Given the description of an element on the screen output the (x, y) to click on. 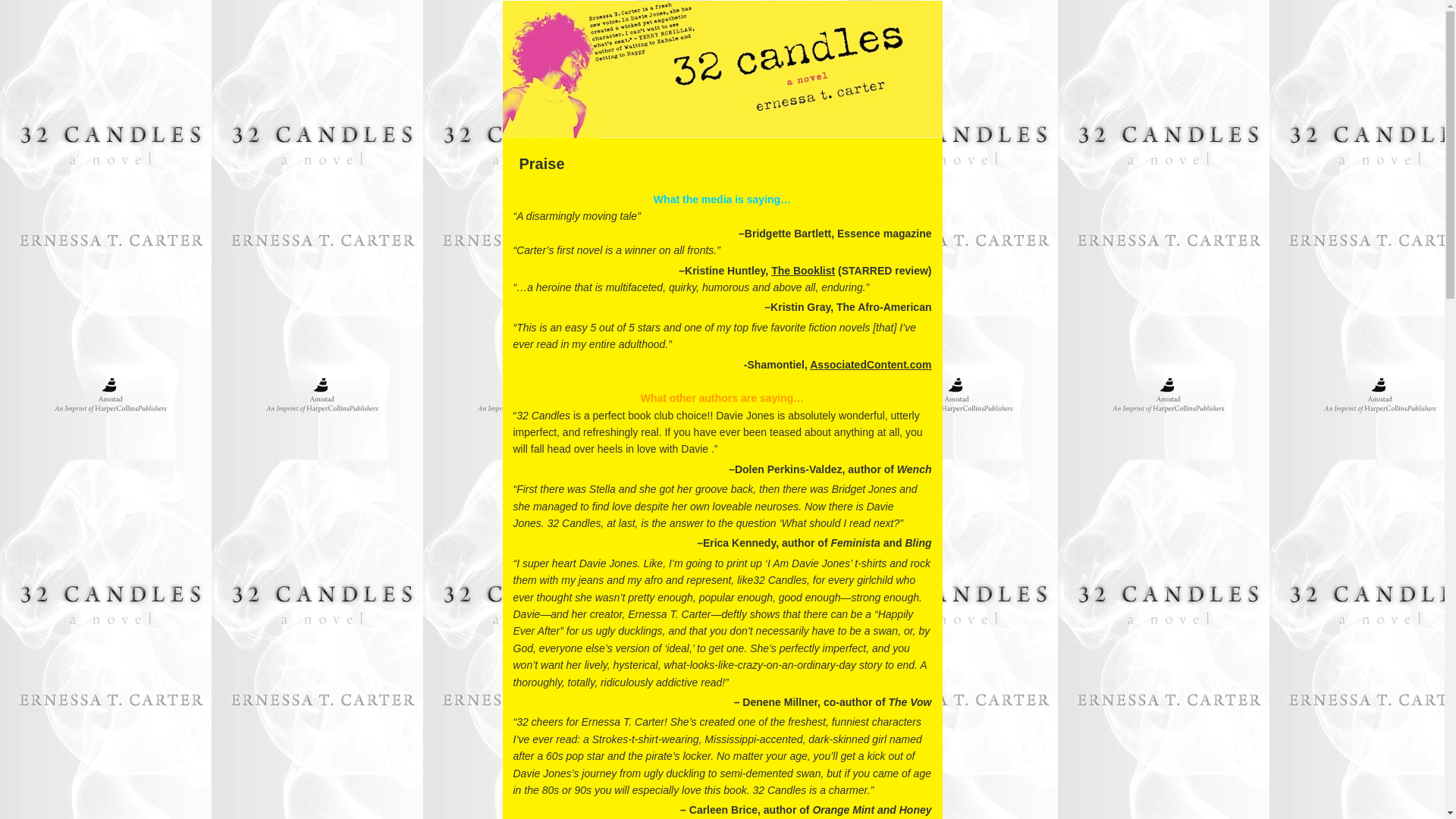
AssociatedContent.com Element type: text (870, 364)
Praise Element type: text (721, 163)
The Booklist Element type: text (802, 270)
32 CANDLES Element type: text (721, 102)
